Given the description of an element on the screen output the (x, y) to click on. 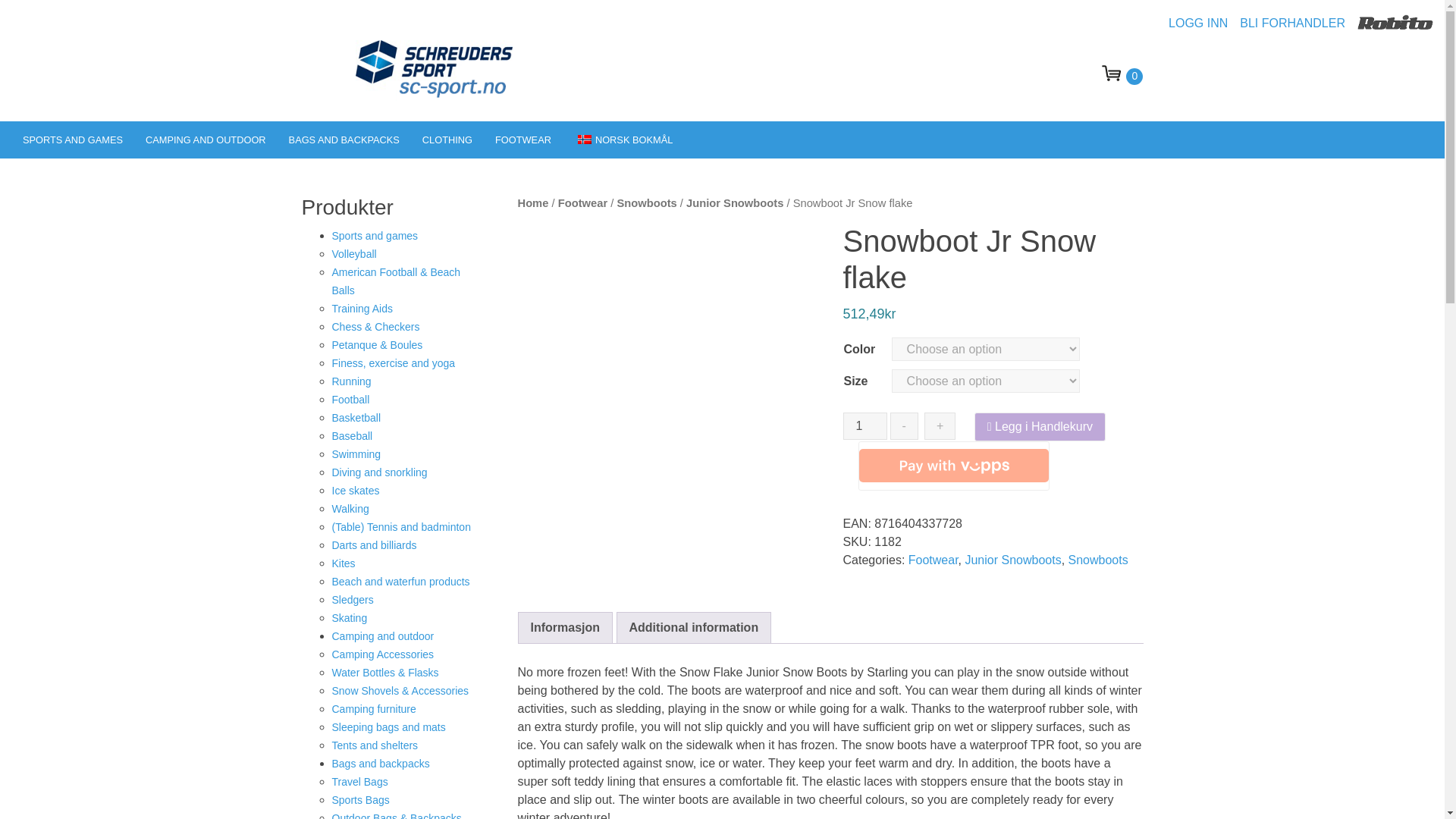
Bags and backpacks (344, 139)
BAGS AND BACKPACKS (344, 139)
BLI FORHANDLER (1298, 22)
CAMPING AND OUTDOOR (205, 139)
SPORTS AND GAMES (72, 139)
Footwear (522, 139)
Camping and outdoor (205, 139)
Buy now with Vipps (954, 466)
FOOTWEAR (522, 139)
Clothing (446, 139)
